Given the description of an element on the screen output the (x, y) to click on. 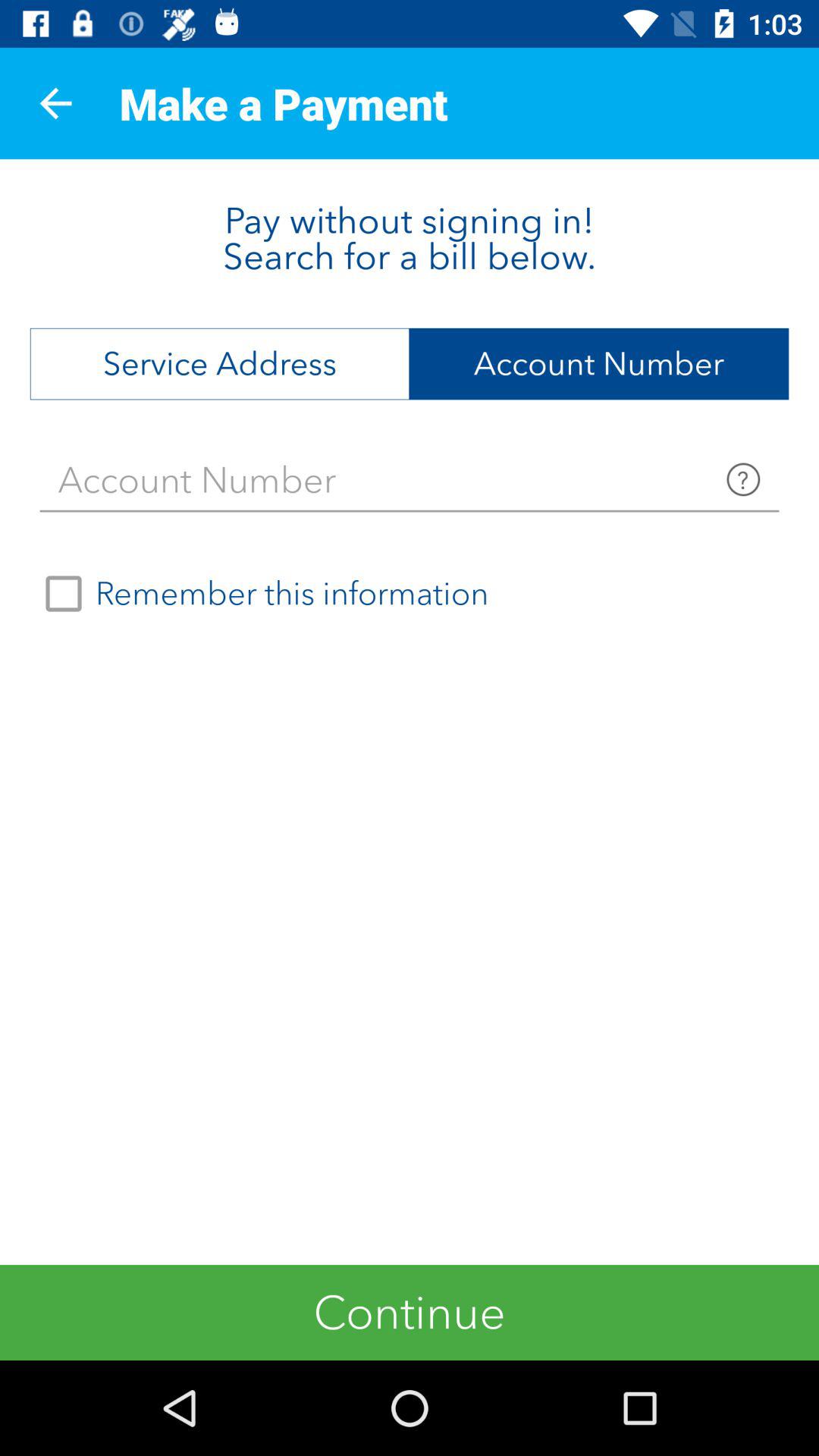
launch the remember this information icon (259, 593)
